Given the description of an element on the screen output the (x, y) to click on. 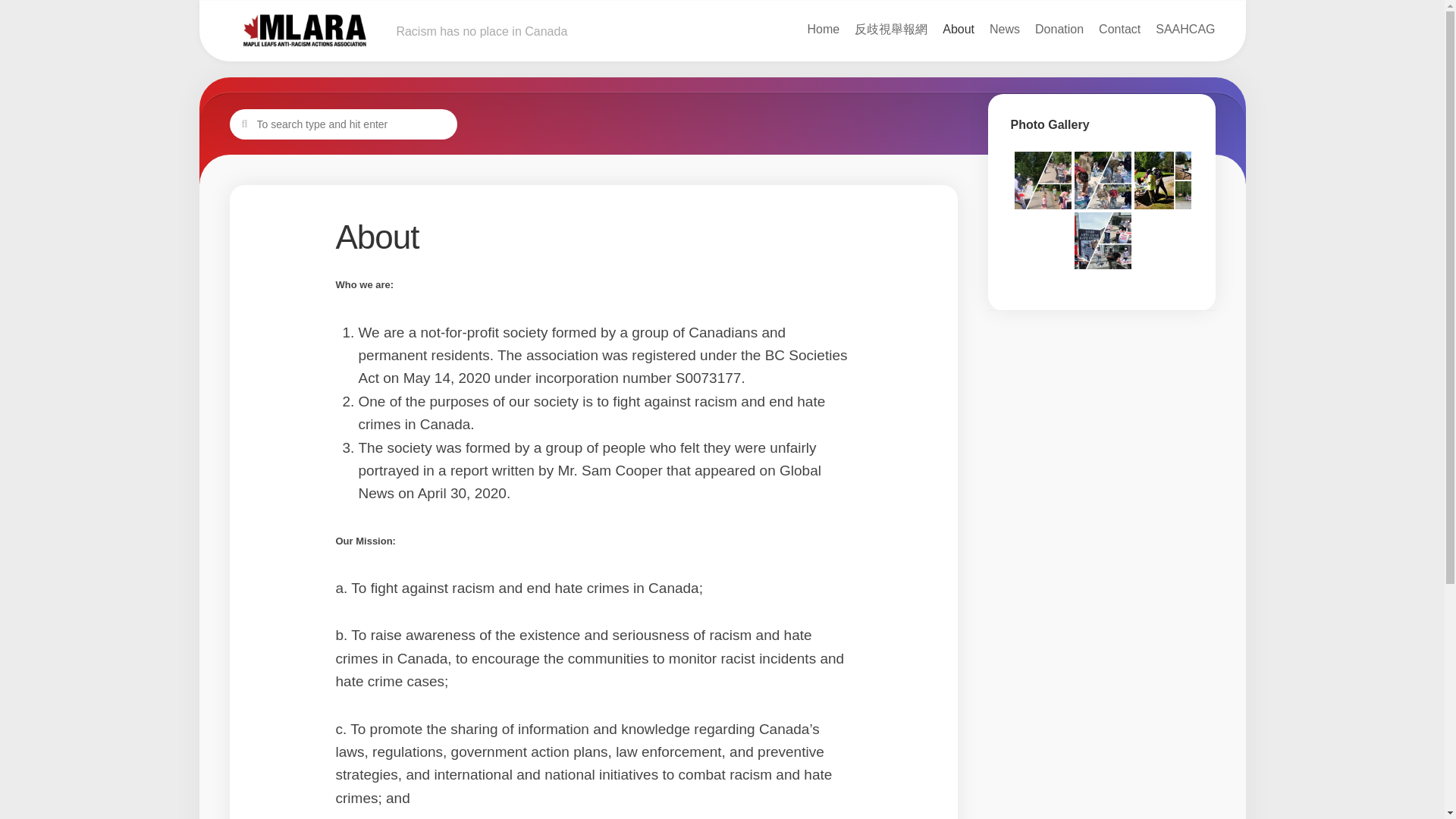
SAAHCAG (1185, 29)
To search type and hit enter (342, 123)
Donation (1059, 29)
Home (824, 29)
To search type and hit enter (342, 123)
Donation (1059, 29)
News (1005, 29)
About (958, 29)
Contact (1119, 29)
